Given the description of an element on the screen output the (x, y) to click on. 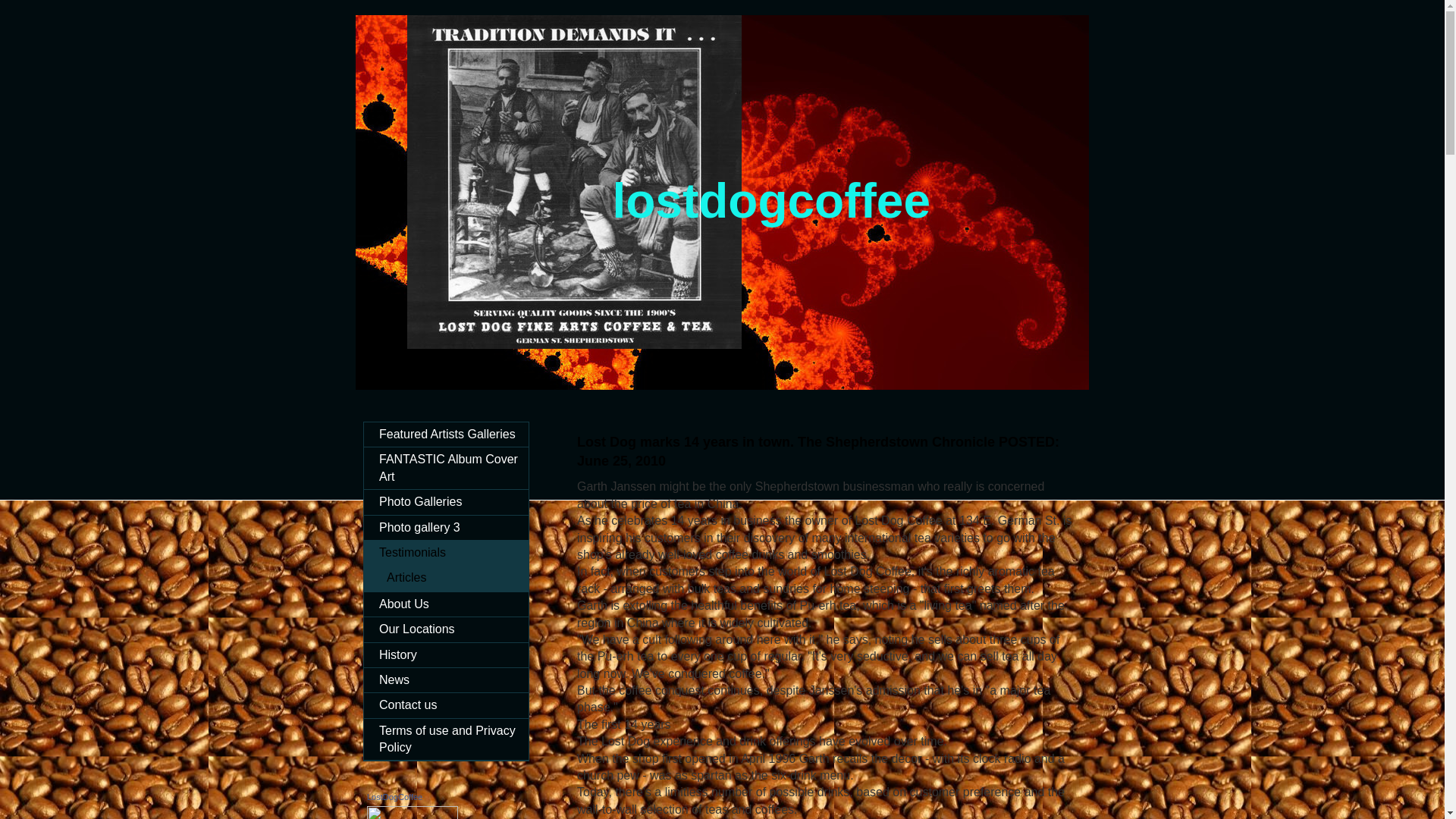
Photo gallery 3 (446, 527)
Articles (446, 577)
History (446, 654)
Featured Artists Galleries (446, 434)
Terms of use and Privacy Policy (446, 739)
News (446, 680)
LostDogCoffee (394, 796)
Contact us (446, 704)
Photo Galleries (446, 501)
FANTASTIC Album Cover Art (446, 467)
